Given the description of an element on the screen output the (x, y) to click on. 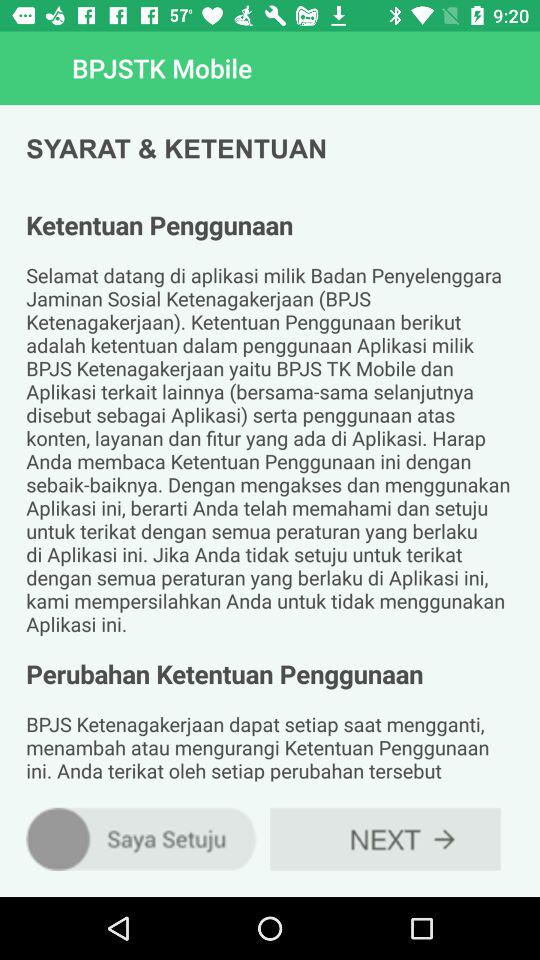
turn off the item below the ketentuan penggunaan selamat item (141, 838)
